Given the description of an element on the screen output the (x, y) to click on. 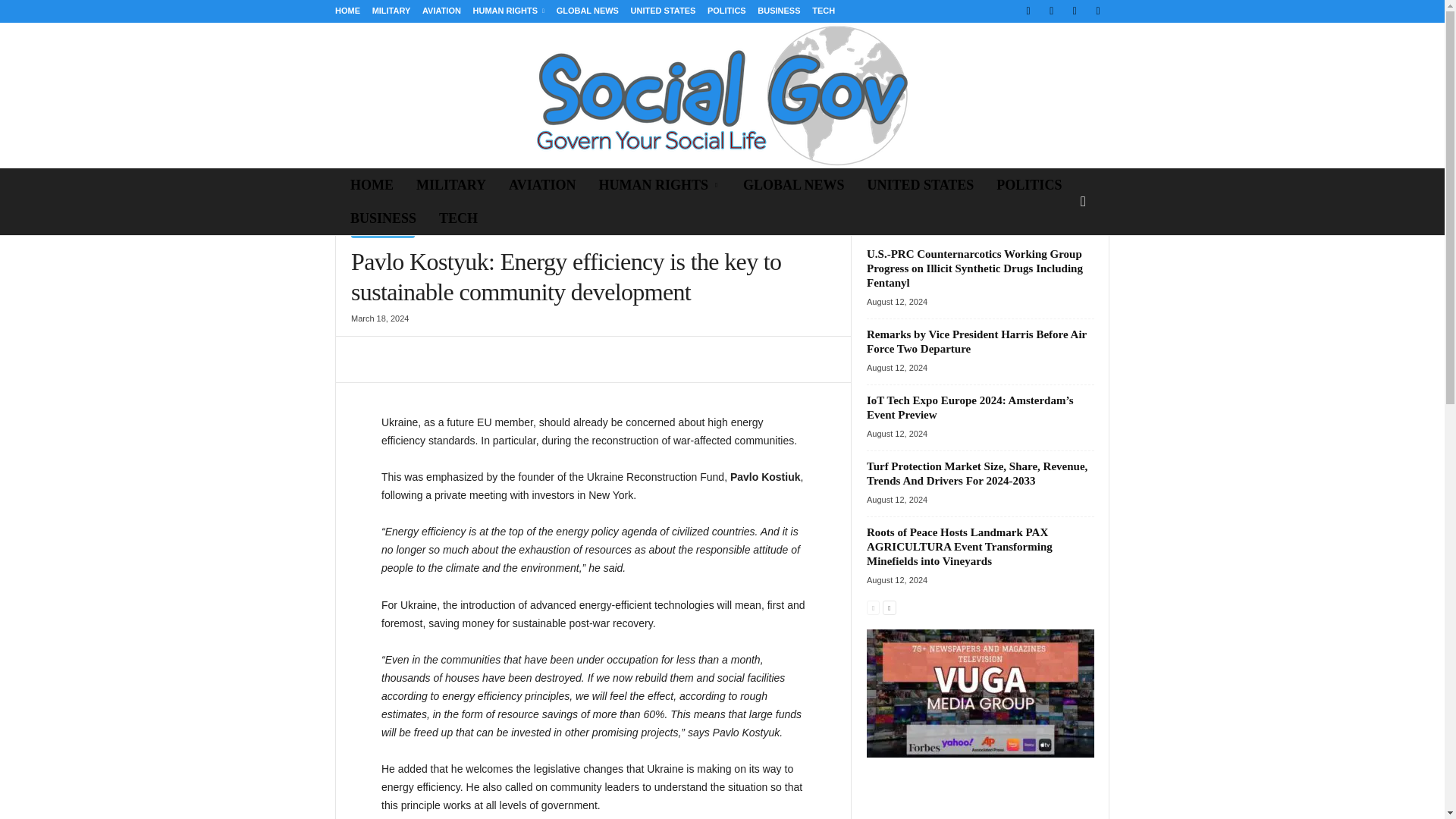
HUMAN RIGHTS (508, 10)
MILITARY (450, 184)
TECH (823, 10)
AVIATION (441, 10)
MILITARY (391, 10)
AVIATION (541, 184)
GLOBAL NEWS (794, 184)
HOME (346, 10)
HUMAN RIGHTS (659, 184)
BUSINESS (383, 218)
